Given the description of an element on the screen output the (x, y) to click on. 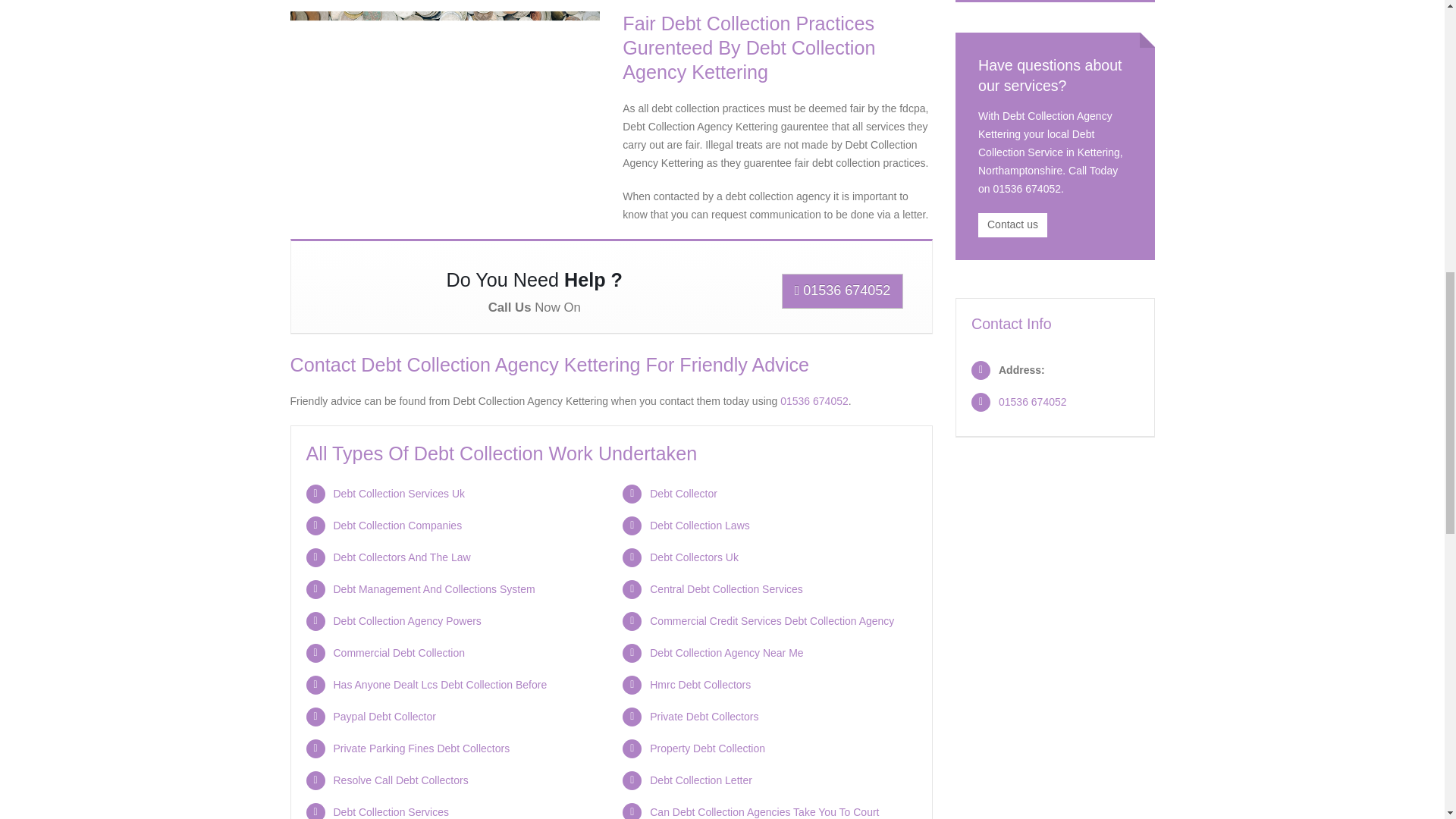
01536 674052 (814, 400)
01536 674052 (842, 290)
